Given the description of an element on the screen output the (x, y) to click on. 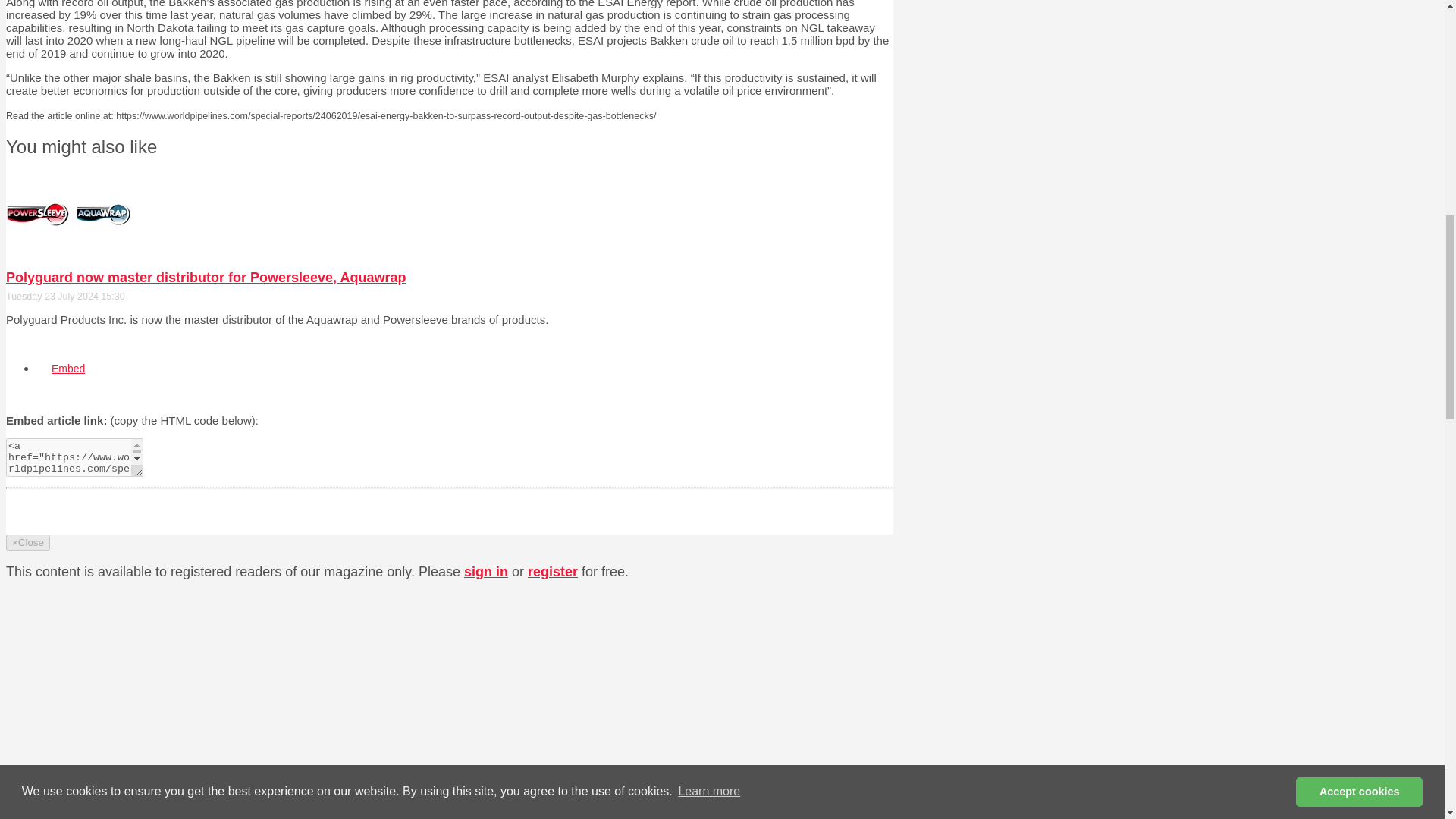
register (552, 571)
Embed (68, 368)
3rd party ad content (774, 779)
Polyguard now master distributor for Powersleeve, Aquawrap (205, 277)
3rd party ad content (774, 625)
sign in (486, 571)
